Given the description of an element on the screen output the (x, y) to click on. 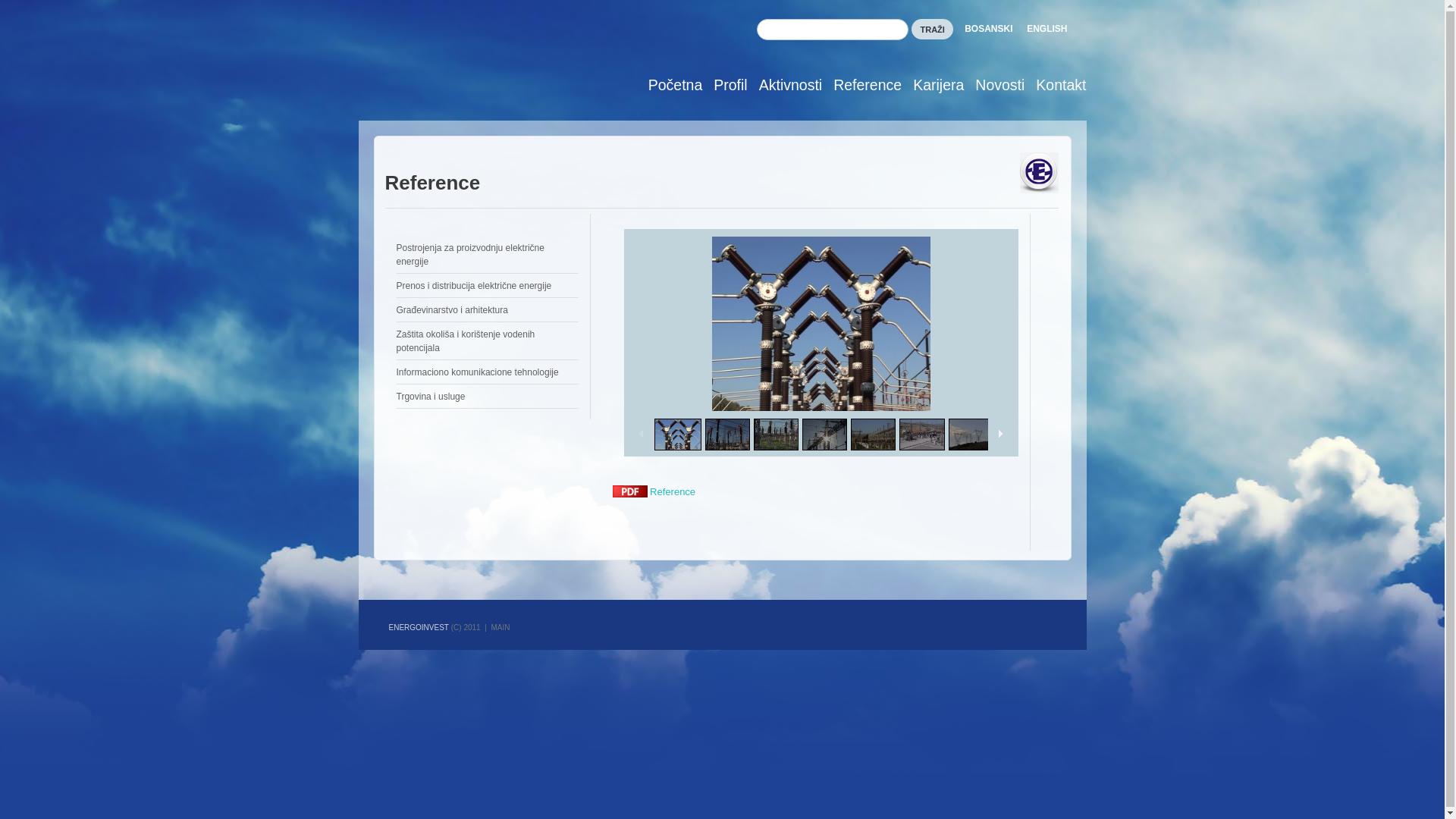
Informaciono komunikacione tehnologije Element type: text (476, 372)
Aktivnosti Element type: text (785, 86)
BOSANSKI Element type: text (988, 28)
Karijera Element type: text (932, 86)
Kontakt Element type: text (1055, 86)
Novosti Element type: text (994, 86)
Reference Element type: text (861, 86)
Trgovina i usluge Element type: text (429, 396)
Profil Element type: text (724, 86)
ENGLISH Element type: text (1046, 28)
Reference Element type: text (654, 491)
MAIN Element type: text (499, 627)
